Given the description of an element on the screen output the (x, y) to click on. 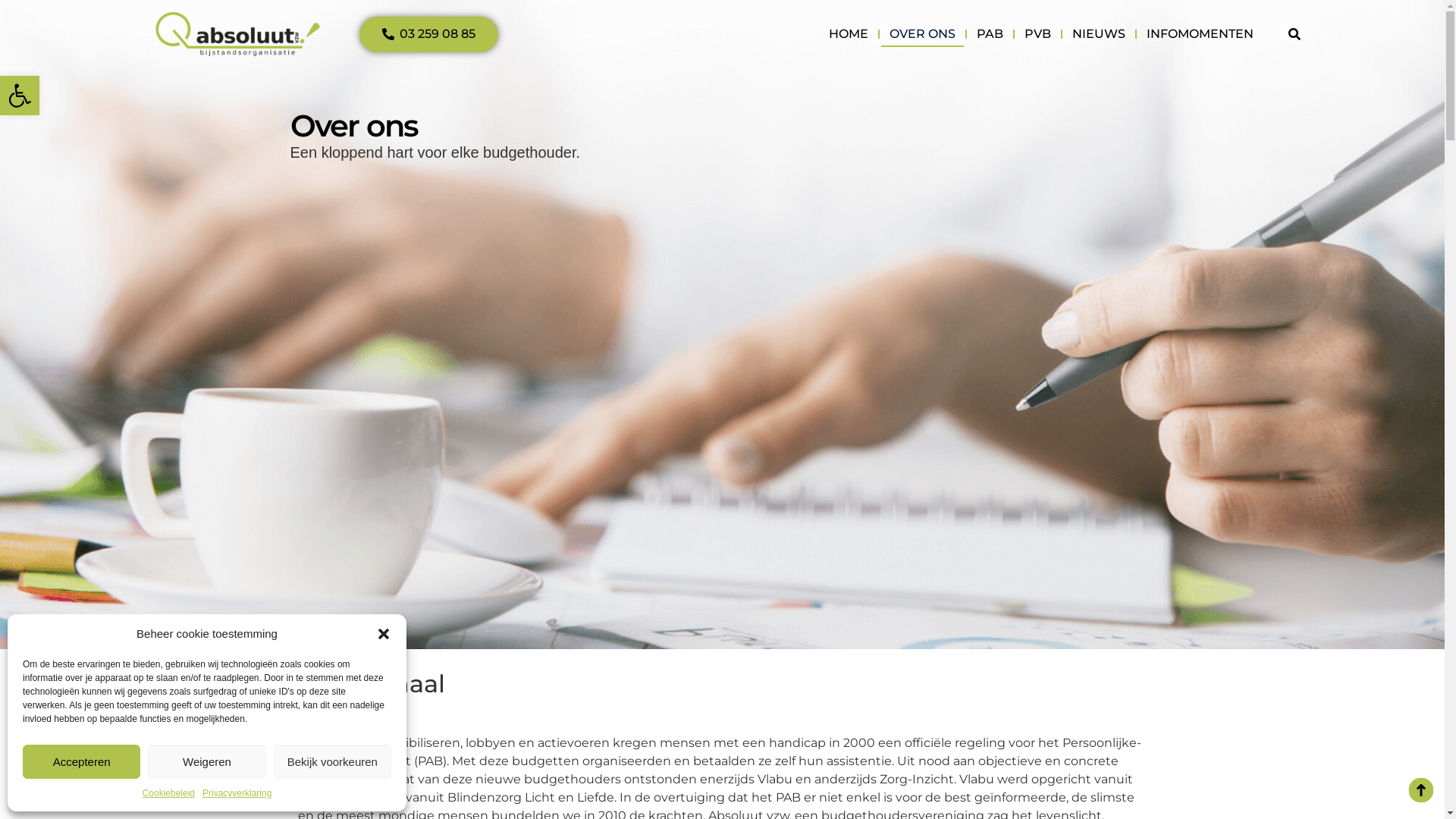
PVB Element type: text (1037, 34)
Toolbar openen
Toegankelijkheids- opties Element type: text (19, 95)
Weigeren Element type: text (206, 761)
Bekijk voorkeuren Element type: text (332, 761)
INFOMOMENTEN Element type: text (1199, 34)
HOME Element type: text (848, 34)
Cookiebeleid Element type: text (168, 793)
Accepteren Element type: text (81, 761)
03 259 08 85 Element type: text (428, 34)
PAB Element type: text (989, 34)
NIEUWS Element type: text (1098, 34)
Privacyverklaring Element type: text (236, 793)
OVER ONS Element type: text (922, 34)
